Given the description of an element on the screen output the (x, y) to click on. 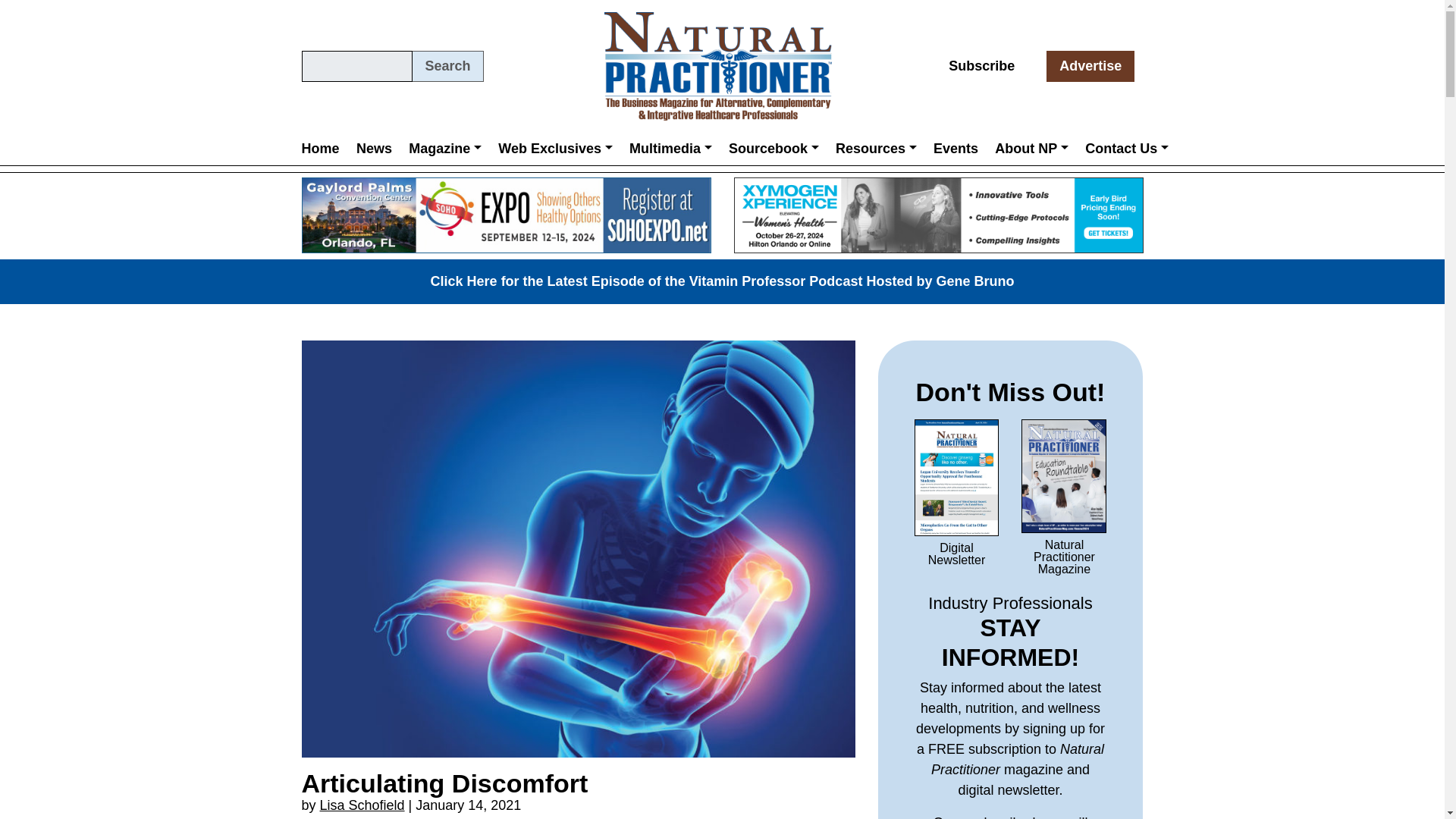
News (373, 147)
Multimedia (670, 147)
About NP (1032, 147)
News (373, 147)
Web Exclusives (555, 147)
Events (955, 147)
Home (324, 147)
Sourcebook (773, 147)
Sourcebook (773, 147)
Magazine (444, 147)
